Given the description of an element on the screen output the (x, y) to click on. 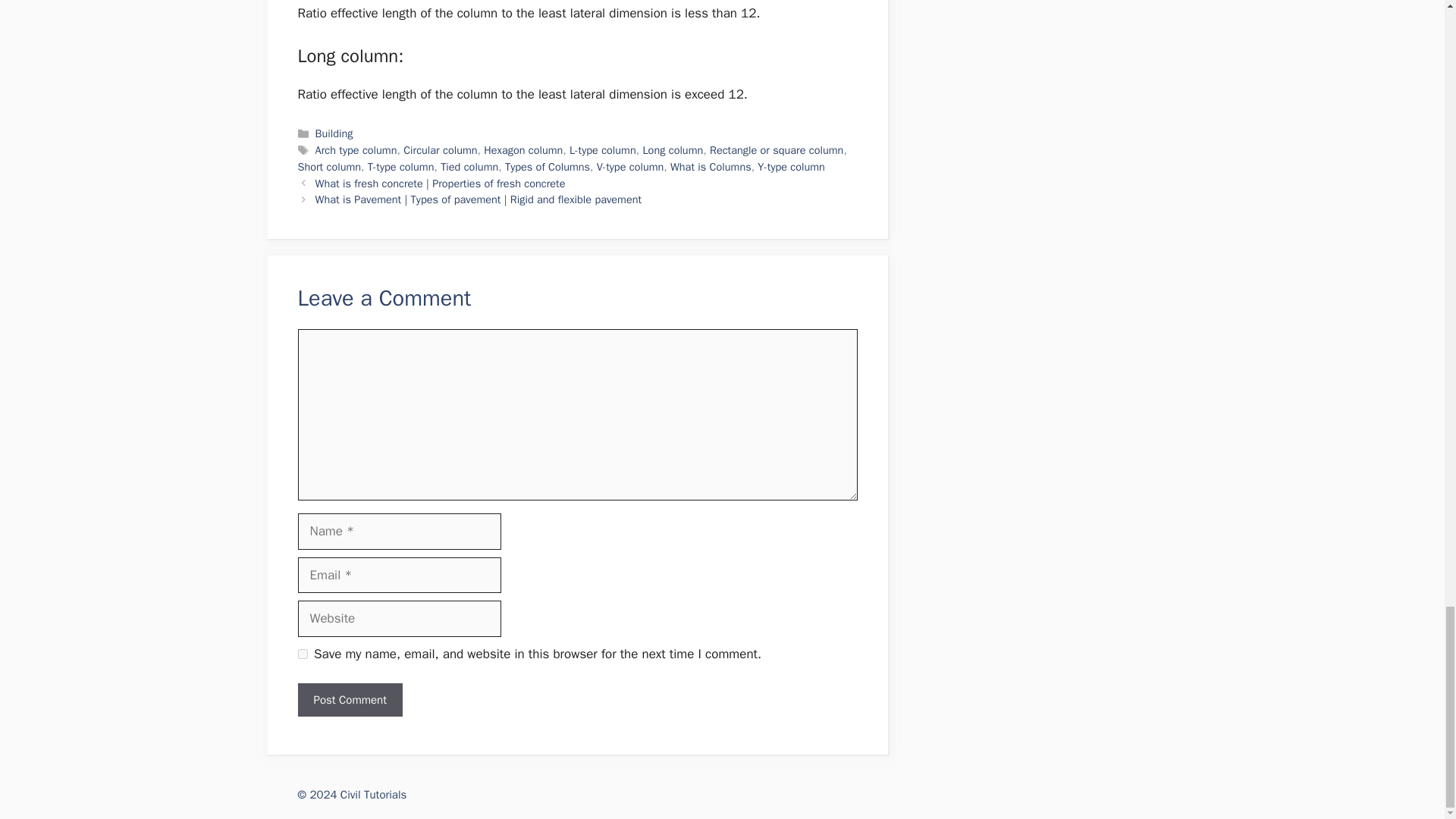
What is Columns (710, 166)
Building (334, 133)
Y-type column (791, 166)
Types of Columns (547, 166)
Rectangle or square column (776, 150)
yes (302, 654)
T-type column (400, 166)
Arch type column (356, 150)
Long column (672, 150)
Tied column (469, 166)
